Given the description of an element on the screen output the (x, y) to click on. 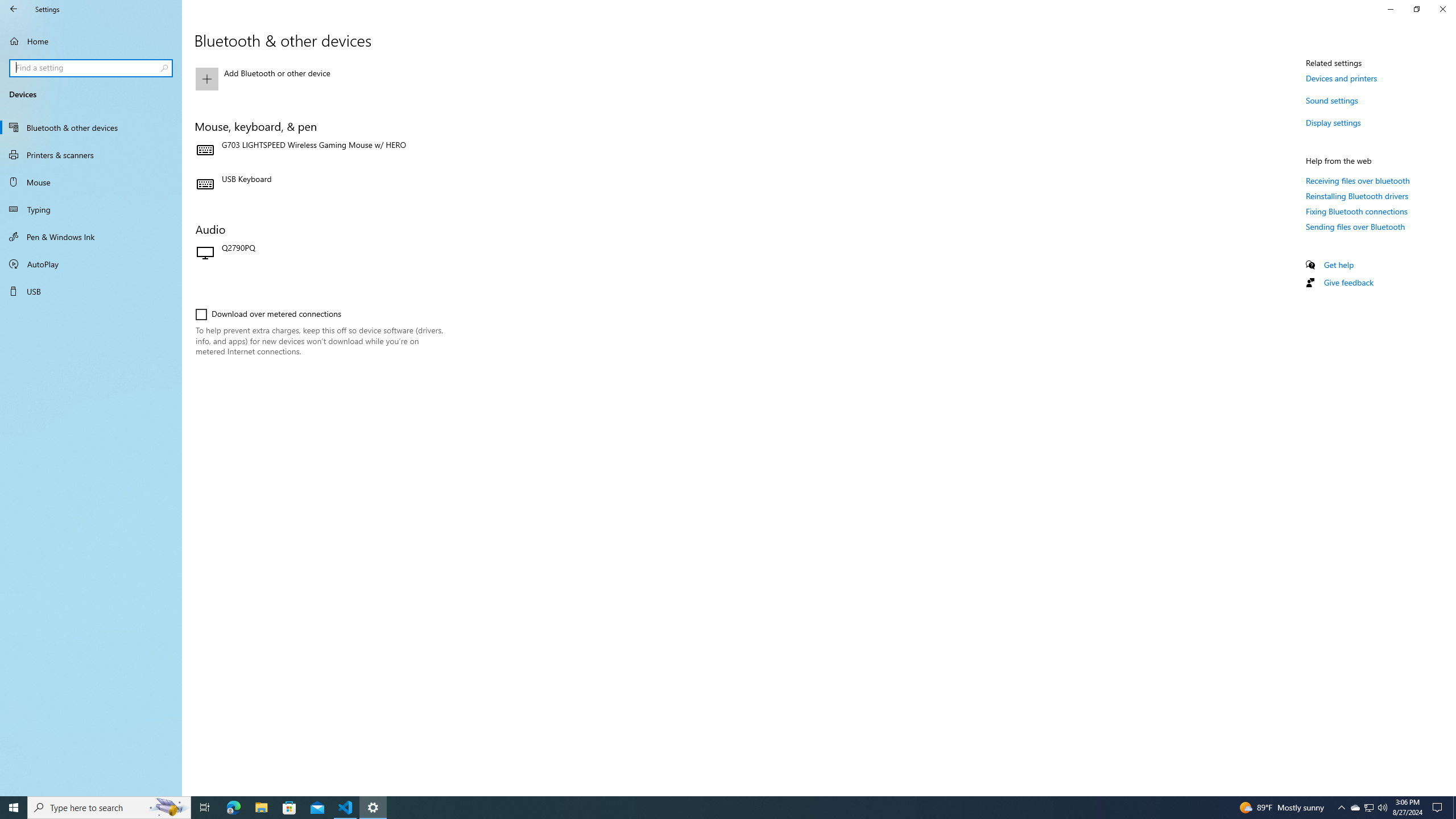
USB (91, 290)
Mouse (91, 181)
Close Settings (1442, 9)
Get help (1338, 264)
Download over metered connections (268, 314)
Running applications (717, 807)
Pen & Windows Ink (91, 236)
